Given the description of an element on the screen output the (x, y) to click on. 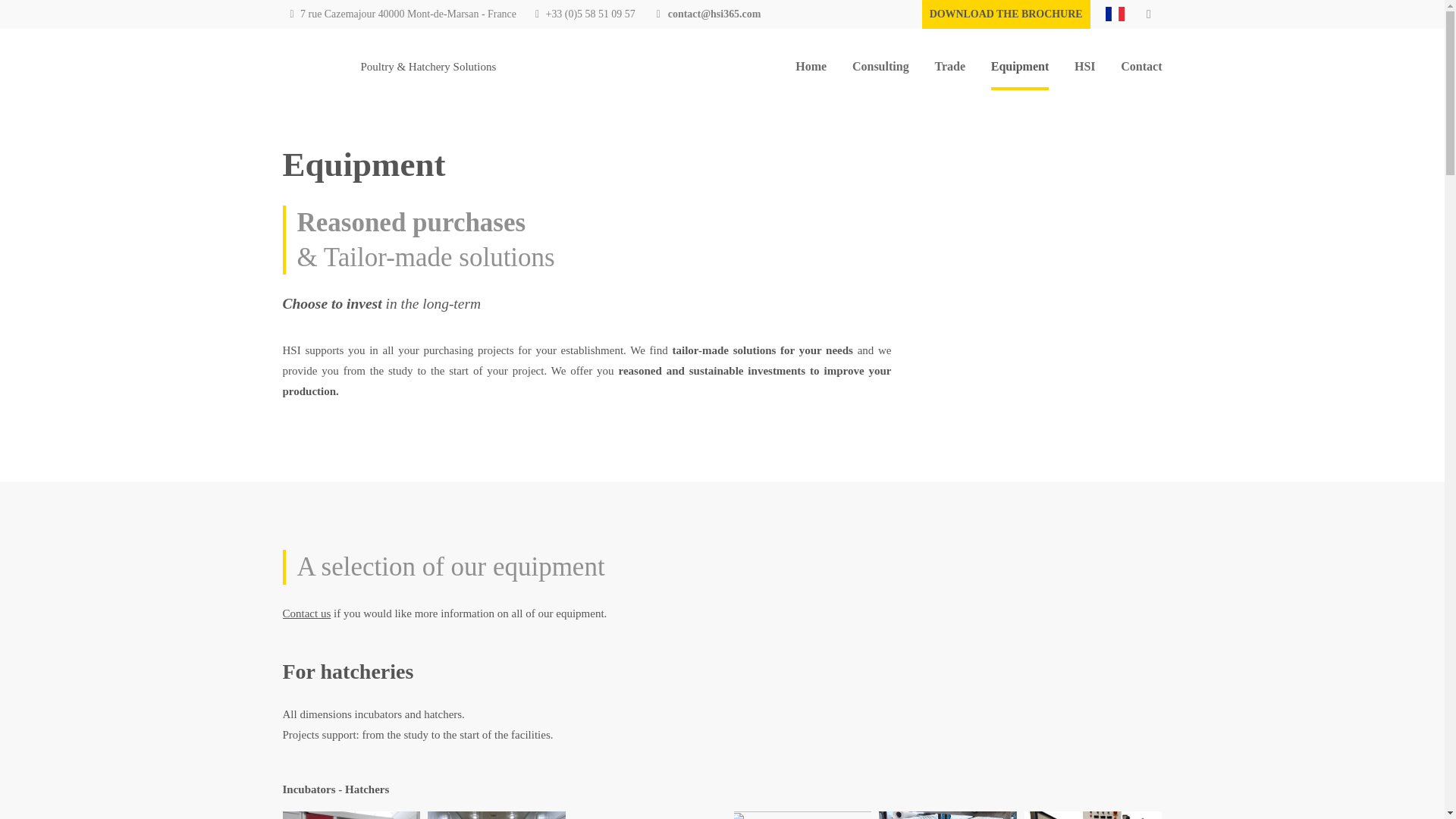
Contact (1141, 65)
Consulting (879, 65)
Choose to invest in the long-term (1019, 67)
Equipment (1019, 67)
DOWNLOAD THE BROCHURE (1005, 14)
email (714, 14)
Expand the performances of your poultry facilities (879, 65)
Contact us (306, 612)
Contact (1141, 65)
